Given the description of an element on the screen output the (x, y) to click on. 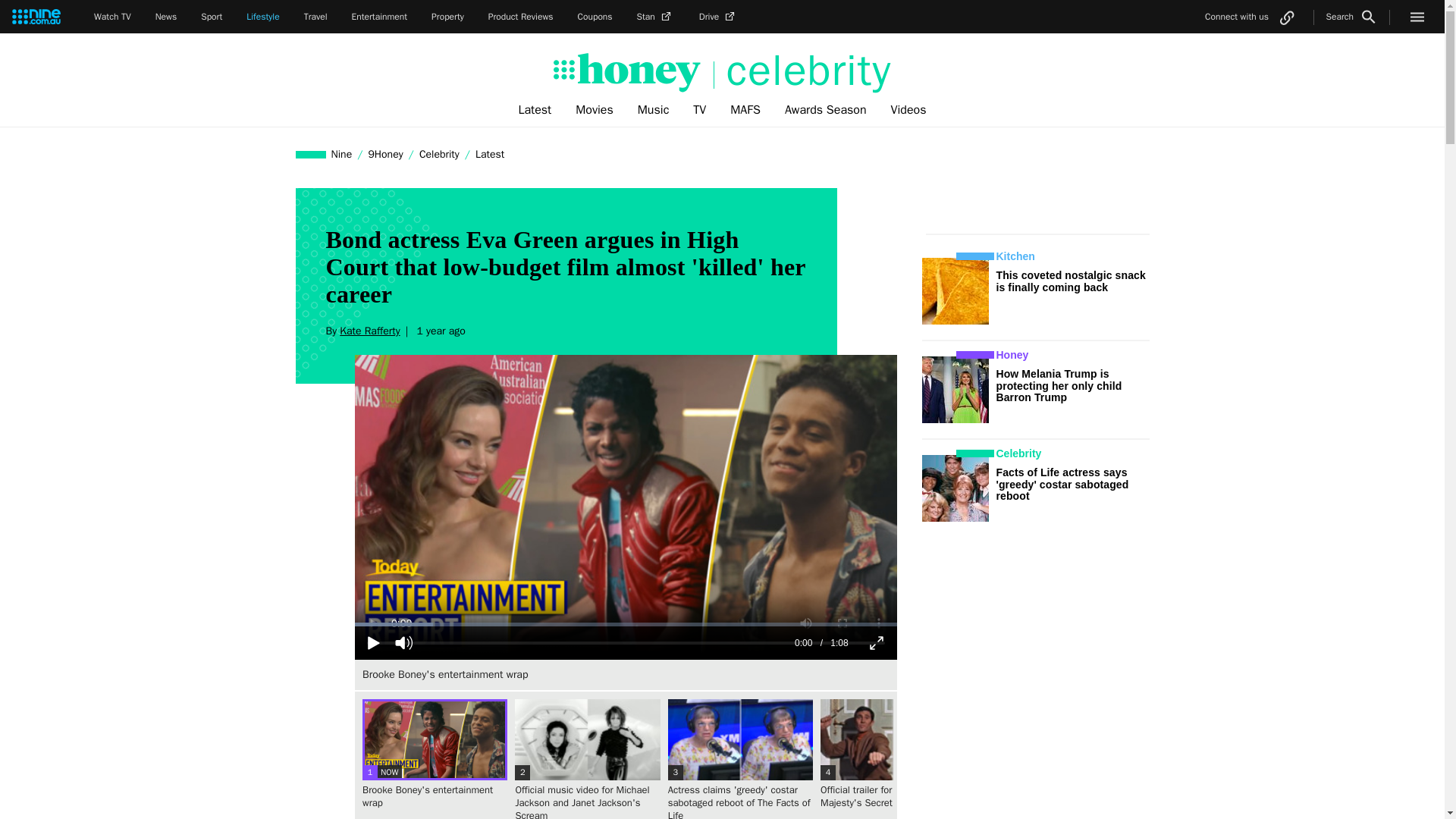
MAFS (745, 109)
Drive (718, 16)
Lifestyle (262, 16)
celebrity (802, 71)
TV (699, 109)
Nine (342, 154)
Stan (656, 16)
Celebrity (438, 154)
Coupons (595, 16)
9Honey (384, 154)
Mute (403, 643)
Product Reviews (520, 16)
Kate Rafferty (368, 330)
Mute (403, 643)
Fullscreen (876, 643)
